Given the description of an element on the screen output the (x, y) to click on. 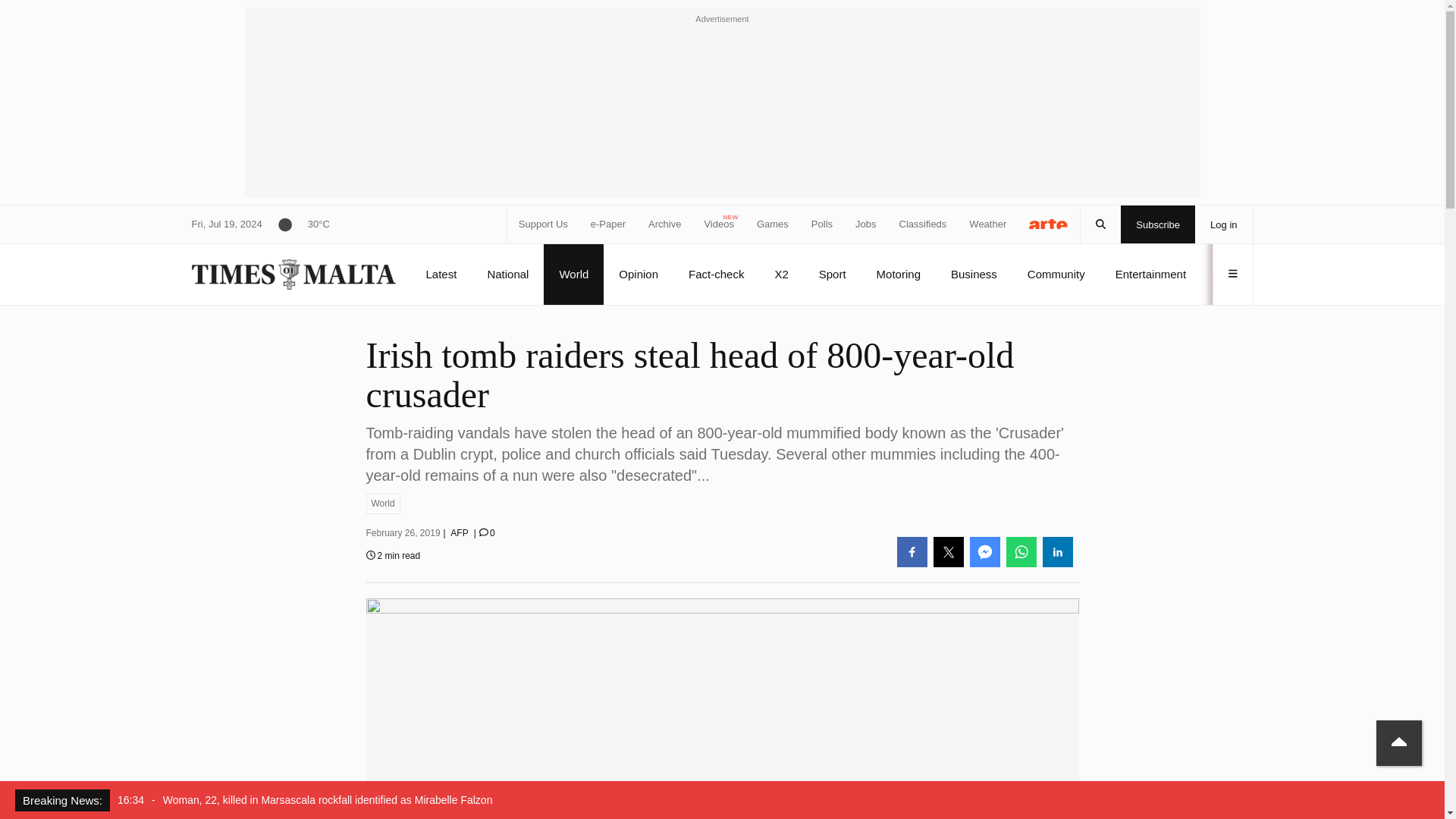
Community (1055, 274)
Subscribe (1158, 224)
Support Us (542, 224)
AFP (458, 532)
Classifieds (923, 224)
Entertainment (1150, 274)
Log in (1223, 224)
ARTE (1048, 223)
0 (487, 532)
e-Paper (608, 224)
Fact-check (716, 274)
Weather (987, 224)
View more articles by AFP (458, 532)
Additional weather information (296, 224)
